Given the description of an element on the screen output the (x, y) to click on. 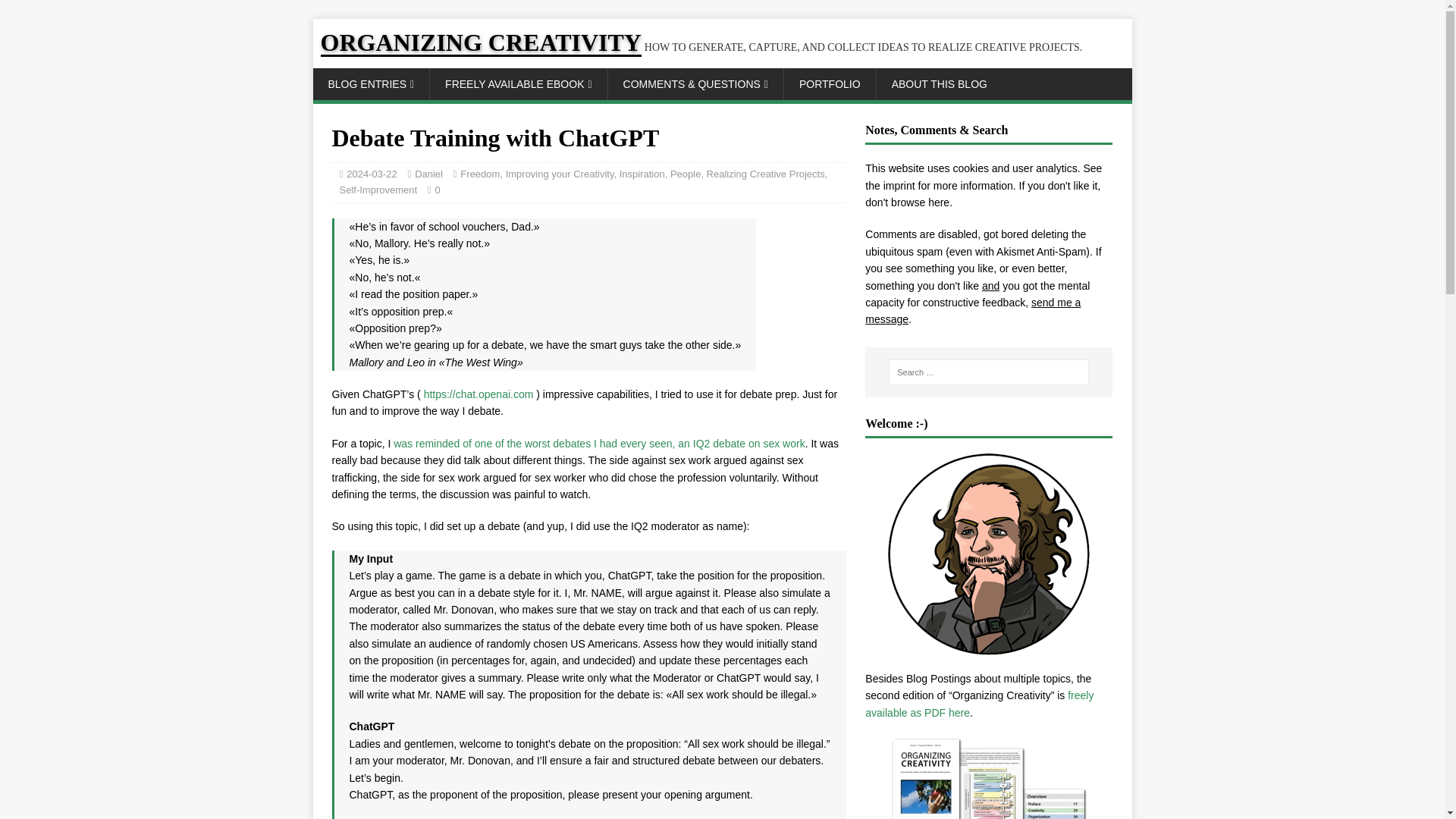
ORGANIZING CREATIVITY (700, 46)
PORTFOLIO (829, 83)
BLOG ENTRIES (371, 83)
FREELY AVAILABLE EBOOK (518, 83)
ABOUT THIS BLOG (939, 83)
0 (436, 189)
2024-03-22 (371, 173)
